Given the description of an element on the screen output the (x, y) to click on. 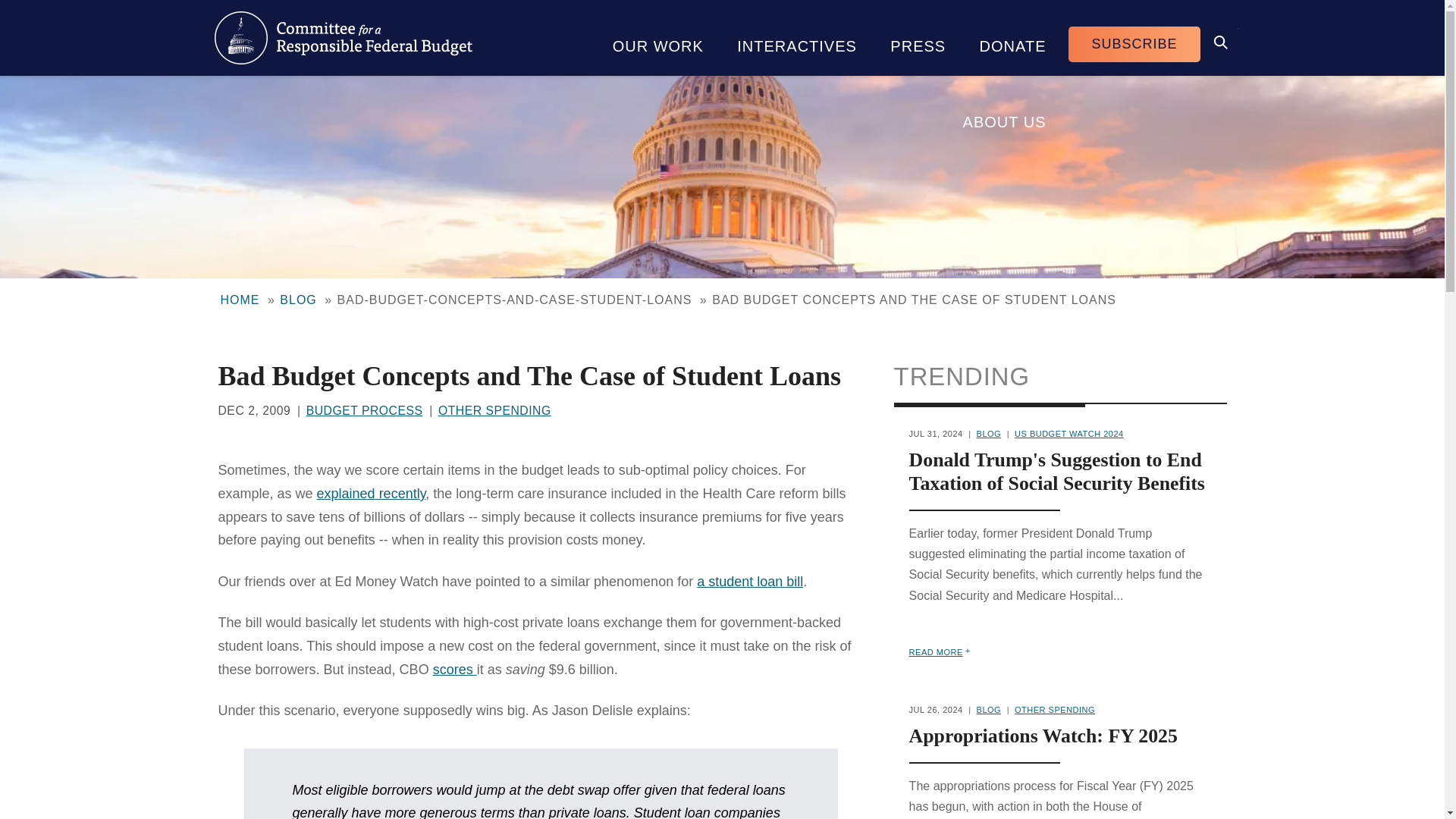
DONATE (1012, 38)
Committee for a Responsible Federal Budget (342, 37)
INTERACTIVES (797, 38)
PRESS (917, 38)
OUR WORK (657, 38)
ABOUT US (1004, 113)
